Given the description of an element on the screen output the (x, y) to click on. 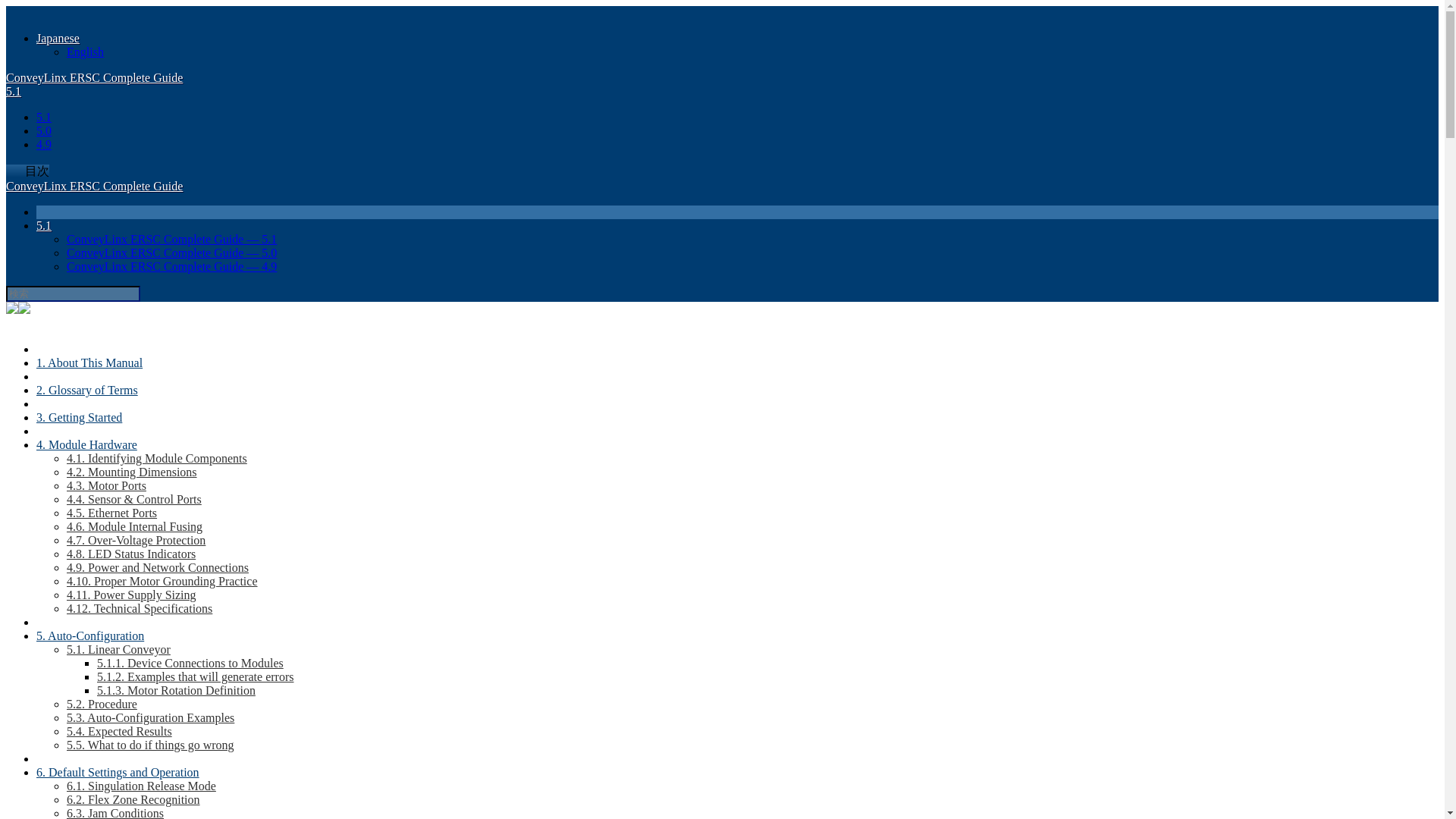
4.12. Technical Specifications (139, 608)
5.1. Linear Conveyor (118, 649)
5.1 (43, 225)
4.11. Power Supply Sizing (131, 594)
4.6. Module Internal Fusing (134, 526)
5.1 (43, 116)
ConveyLinx ERSC Complete Guide (94, 77)
5.1.2. Examples that will generate errors (195, 676)
3. Getting Started (79, 417)
5.1.1. Device Connections to Modules (190, 662)
5.1 (13, 91)
ConveyLinx ERSC Complete Guide (94, 185)
Japanese (58, 38)
5.3. Auto-Configuration Examples (150, 717)
4.1. Identifying Module Components (156, 458)
